Given the description of an element on the screen output the (x, y) to click on. 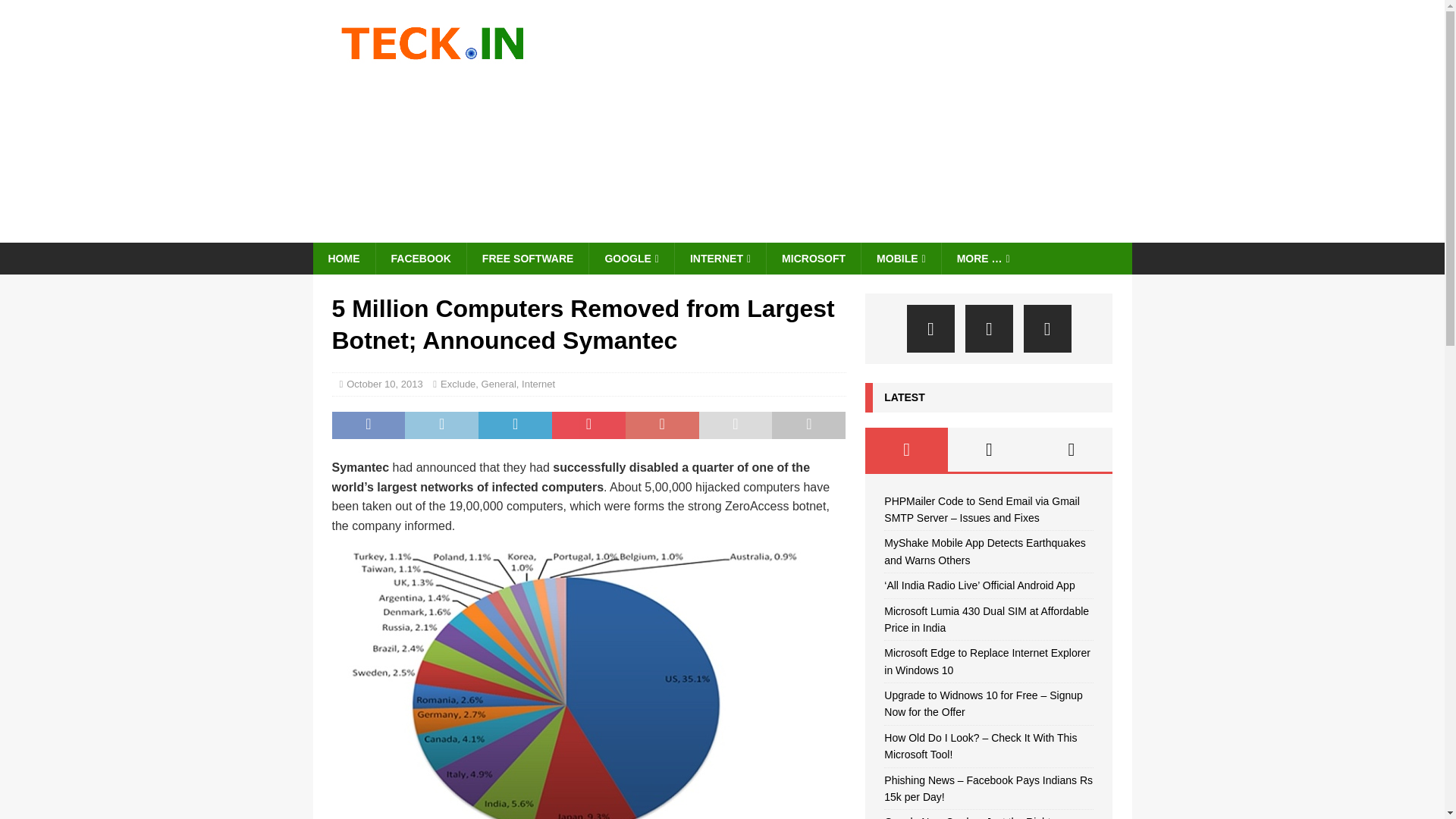
HOME (343, 258)
FREE SOFTWARE (527, 258)
FACEBOOK (419, 258)
Advertisement (854, 121)
GOOGLE (631, 258)
INTERNET (719, 258)
